Given the description of an element on the screen output the (x, y) to click on. 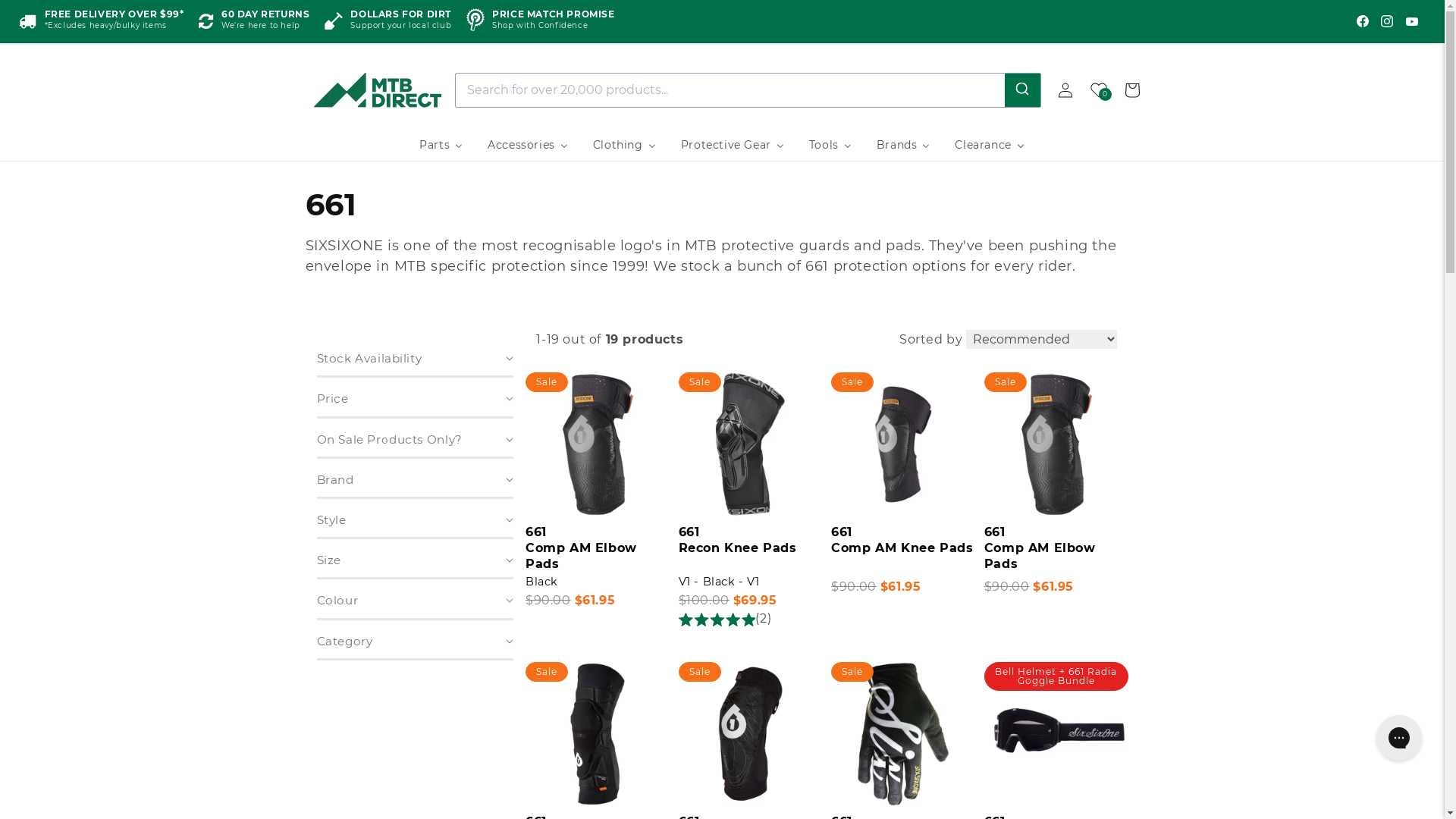
Sale Element type: text (750, 801)
Black Element type: text (541, 581)
Tools Element type: text (830, 144)
Gorgias live chat messenger Element type: hover (1398, 737)
FREE DELIVERY OVER $99*
*Excludes heavy/bulky items Element type: text (100, 21)
Sale Element type: text (1056, 512)
0 Element type: text (1097, 89)
Bell Helmet + 661 Radia Goggle Bundle Element type: text (1056, 801)
661
Comp AM Elbow Pads Element type: text (597, 548)
Sale Element type: text (597, 512)
Comp AM Elbow Pads Element type: text (1039, 555)
Recon Knee Pads Element type: text (737, 547)
60 DAY RETURNS
We're here to help Element type: text (253, 21)
661 Element type: text (535, 531)
Sale Element type: text (750, 512)
Sale Element type: text (597, 801)
Protective Gear Element type: text (732, 144)
Parts Element type: text (441, 144)
661
Comp AM Knee Pads Element type: text (903, 548)
Comp AM Elbow Pads Element type: text (581, 555)
Clothing Element type: text (624, 144)
Find us on YouTube Element type: text (1411, 20)
661
Recon Knee Pads Element type: text (750, 548)
Clearance Element type: text (989, 144)
661 Element type: text (688, 531)
Submit Element type: hover (1021, 89)
Find us on Instagram Element type: text (1386, 20)
Sale Element type: text (903, 801)
661 Element type: text (841, 531)
Accessories Element type: text (527, 144)
Cart Element type: text (1131, 89)
Brands Element type: text (903, 144)
661
Comp AM Elbow Pads Element type: text (1056, 548)
V1 - Black - V1 Element type: text (718, 581)
Comp AM Knee Pads Element type: text (901, 547)
Sale Element type: text (903, 512)
661 Element type: text (994, 531)
Find us on Facebook Element type: text (1362, 20)
Log in Element type: text (1064, 89)
